Given the description of an element on the screen output the (x, y) to click on. 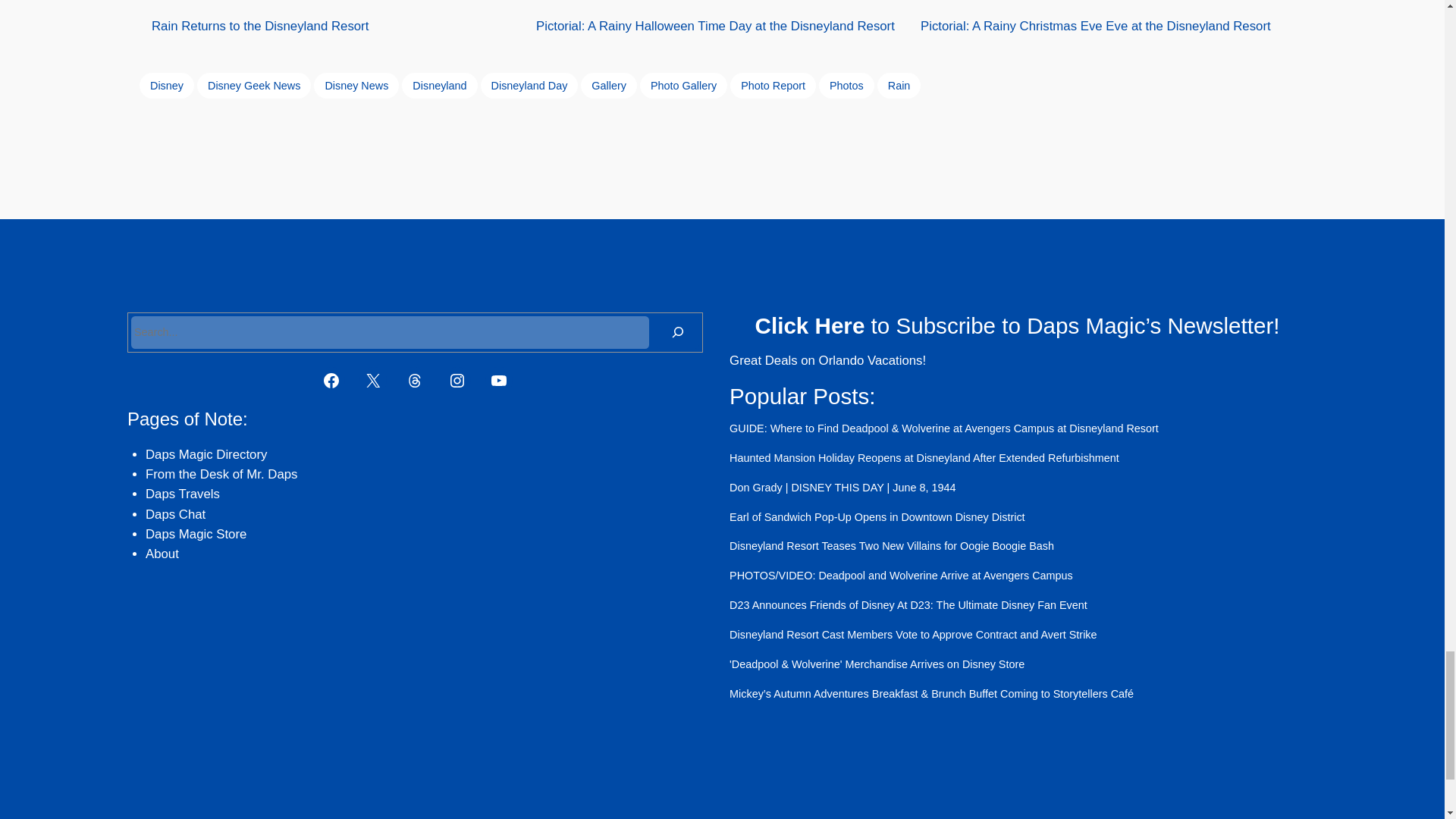
Rain Returns to the Disneyland Resort (337, 17)
